Given the description of an element on the screen output the (x, y) to click on. 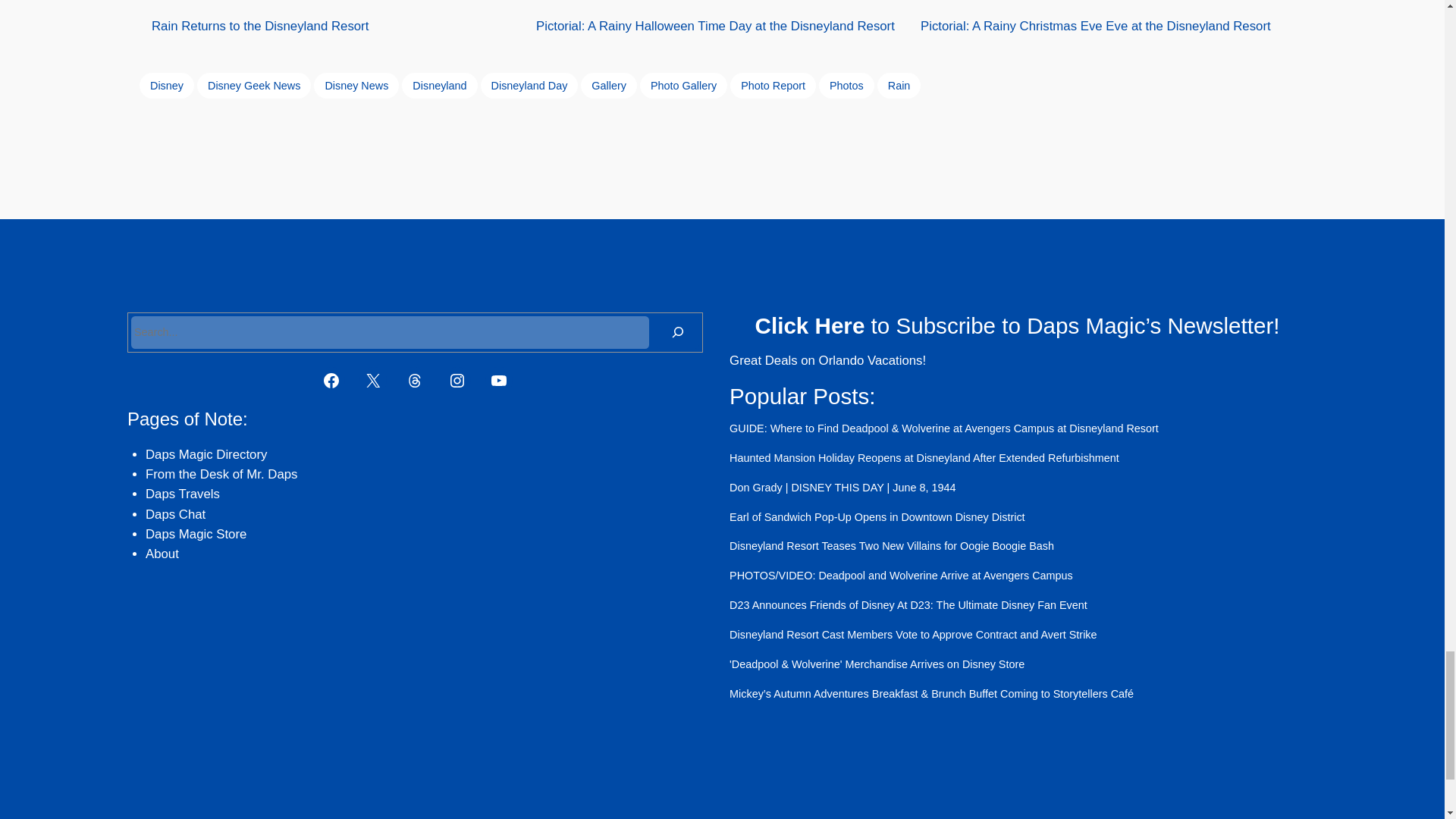
Rain Returns to the Disneyland Resort (337, 17)
